Given the description of an element on the screen output the (x, y) to click on. 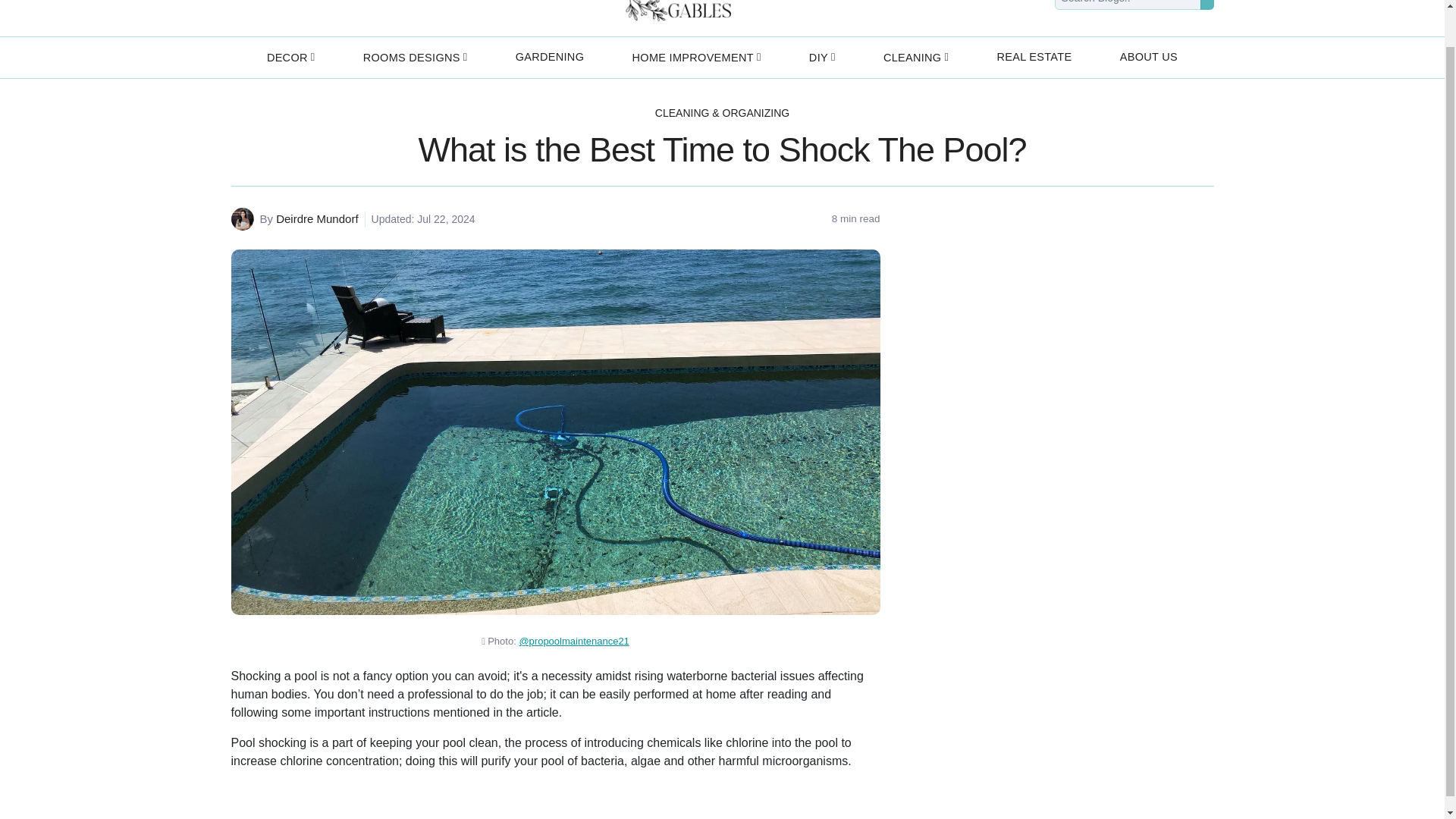
ROOMS DESIGNS (415, 56)
Last Update Date (420, 219)
Pro Pool Maintenance  (573, 641)
Read Time (855, 218)
CLEANING (915, 56)
DIY (821, 56)
HOME IMPROVEMENT (696, 56)
DECOR (290, 56)
GARDENING (549, 56)
Author (308, 219)
